Given the description of an element on the screen output the (x, y) to click on. 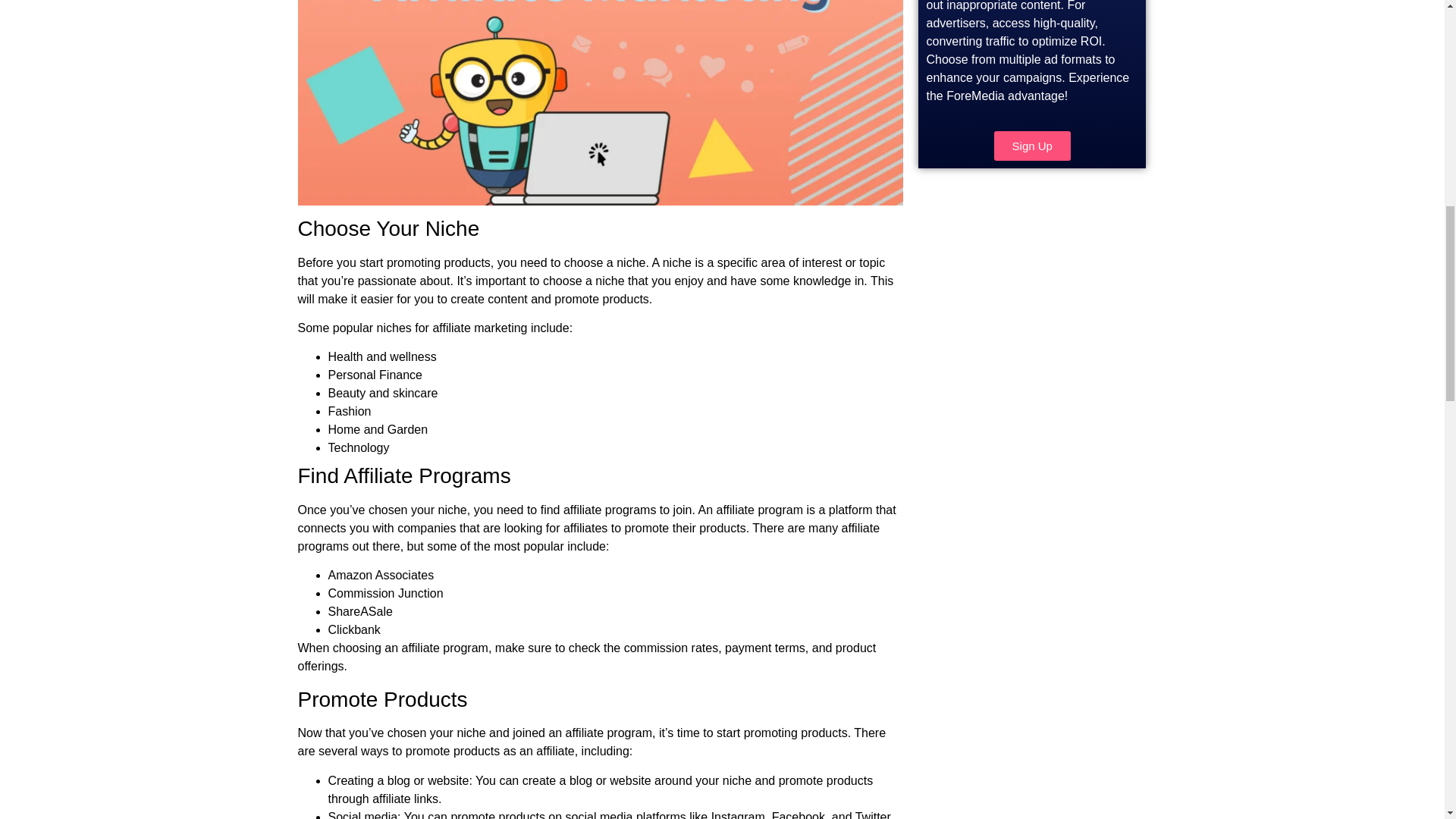
Sign Up (1032, 145)
